Given the description of an element on the screen output the (x, y) to click on. 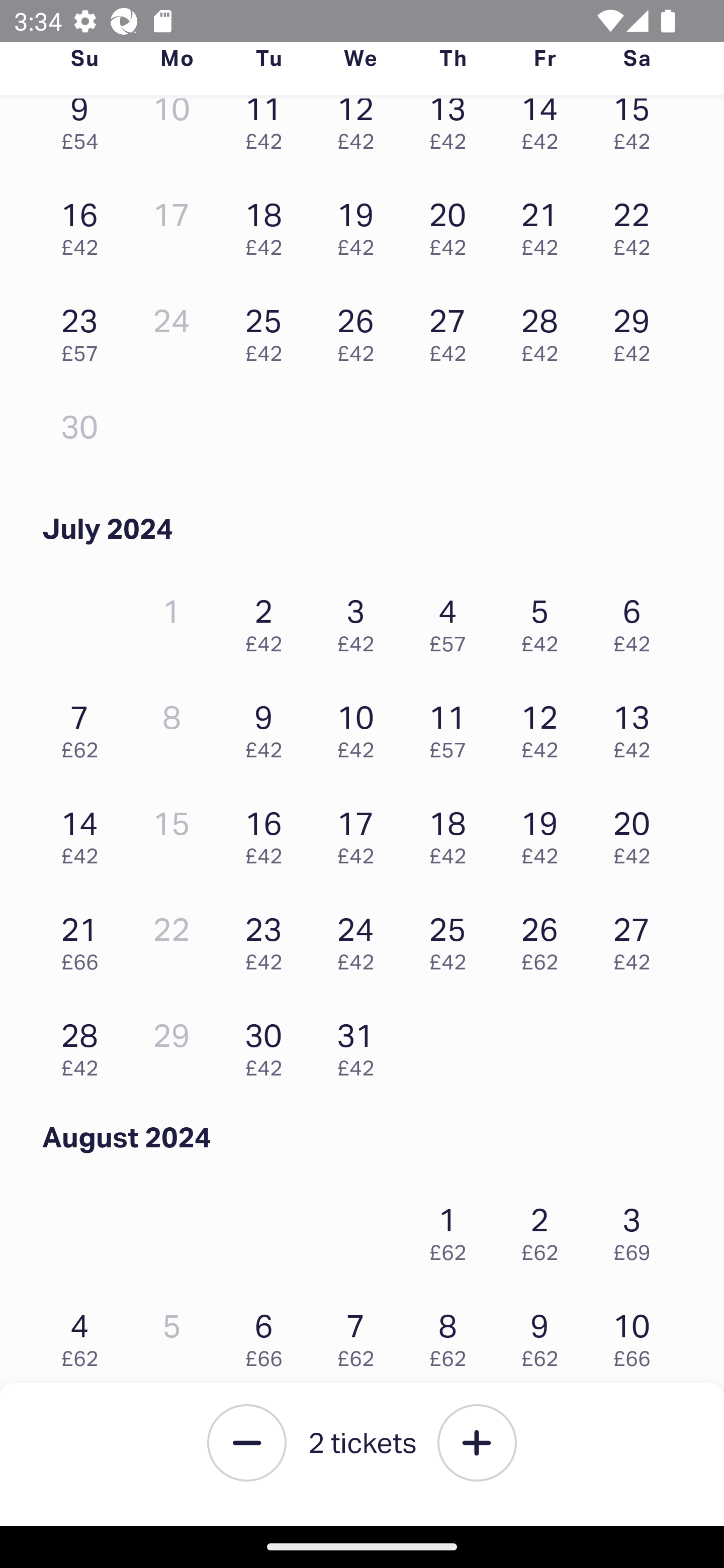
9 £54 (84, 132)
11 £42 (268, 132)
12 £42 (360, 132)
13 £42 (452, 132)
14 £42 (544, 132)
15 £42 (636, 132)
16 £42 (84, 224)
18 £42 (268, 224)
19 £42 (360, 224)
20 £42 (452, 224)
21 £42 (544, 224)
22 £42 (636, 224)
23 £57 (84, 329)
25 £42 (268, 329)
26 £42 (360, 329)
27 £42 (452, 329)
28 £42 (544, 329)
29 £42 (636, 329)
2 £42 (268, 620)
3 £42 (360, 620)
4 £57 (452, 620)
5 £42 (544, 620)
6 £42 (636, 620)
7 £62 (84, 726)
9 £42 (268, 726)
10 £42 (360, 726)
11 £57 (452, 726)
12 £42 (544, 726)
13 £42 (636, 726)
14 £42 (84, 833)
16 £42 (268, 833)
17 £42 (360, 833)
18 £42 (452, 833)
19 £42 (544, 833)
20 £42 (636, 833)
21 £66 (84, 938)
23 £42 (268, 938)
24 £42 (360, 938)
25 £42 (452, 938)
26 £62 (544, 938)
27 £42 (636, 938)
28 £42 (84, 1044)
30 £42 (268, 1044)
31 £42 (360, 1044)
1 £62 (452, 1229)
2 £62 (544, 1229)
3 £69 (636, 1229)
4 £62 (84, 1334)
6 £66 (268, 1334)
7 £62 (360, 1334)
8 £62 (452, 1334)
9 £62 (544, 1334)
10 £66 (636, 1334)
